Given the description of an element on the screen output the (x, y) to click on. 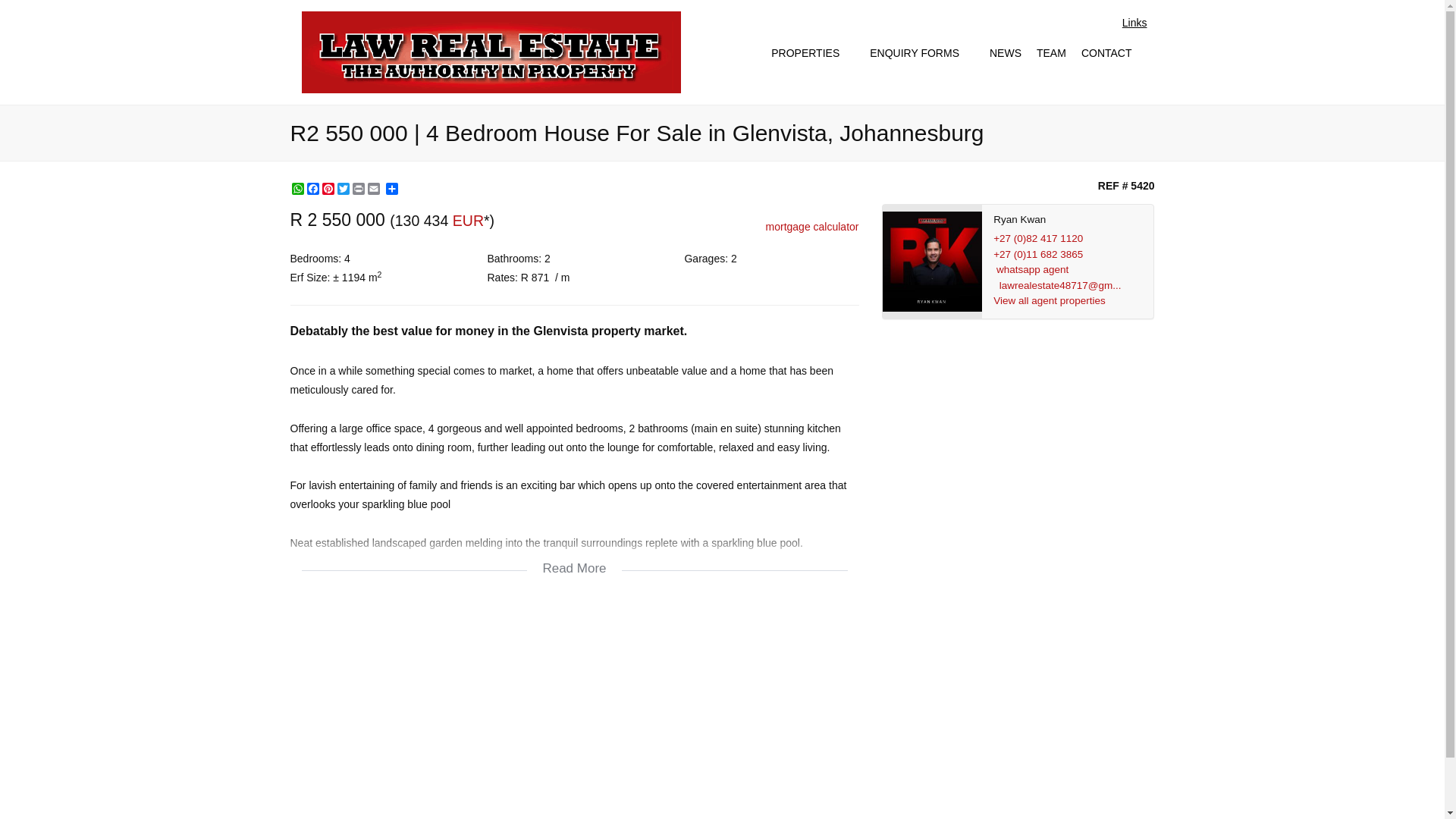
Facebook (312, 188)
Twitter (342, 188)
ENQUIRY FORMS (921, 53)
Links (1134, 22)
TEAM (1051, 53)
CONTACT (1114, 53)
Pinterest (327, 188)
Law Real Estate, Estate Agency Logo (491, 52)
google map (574, 713)
NEWS (1005, 53)
